Given the description of an element on the screen output the (x, y) to click on. 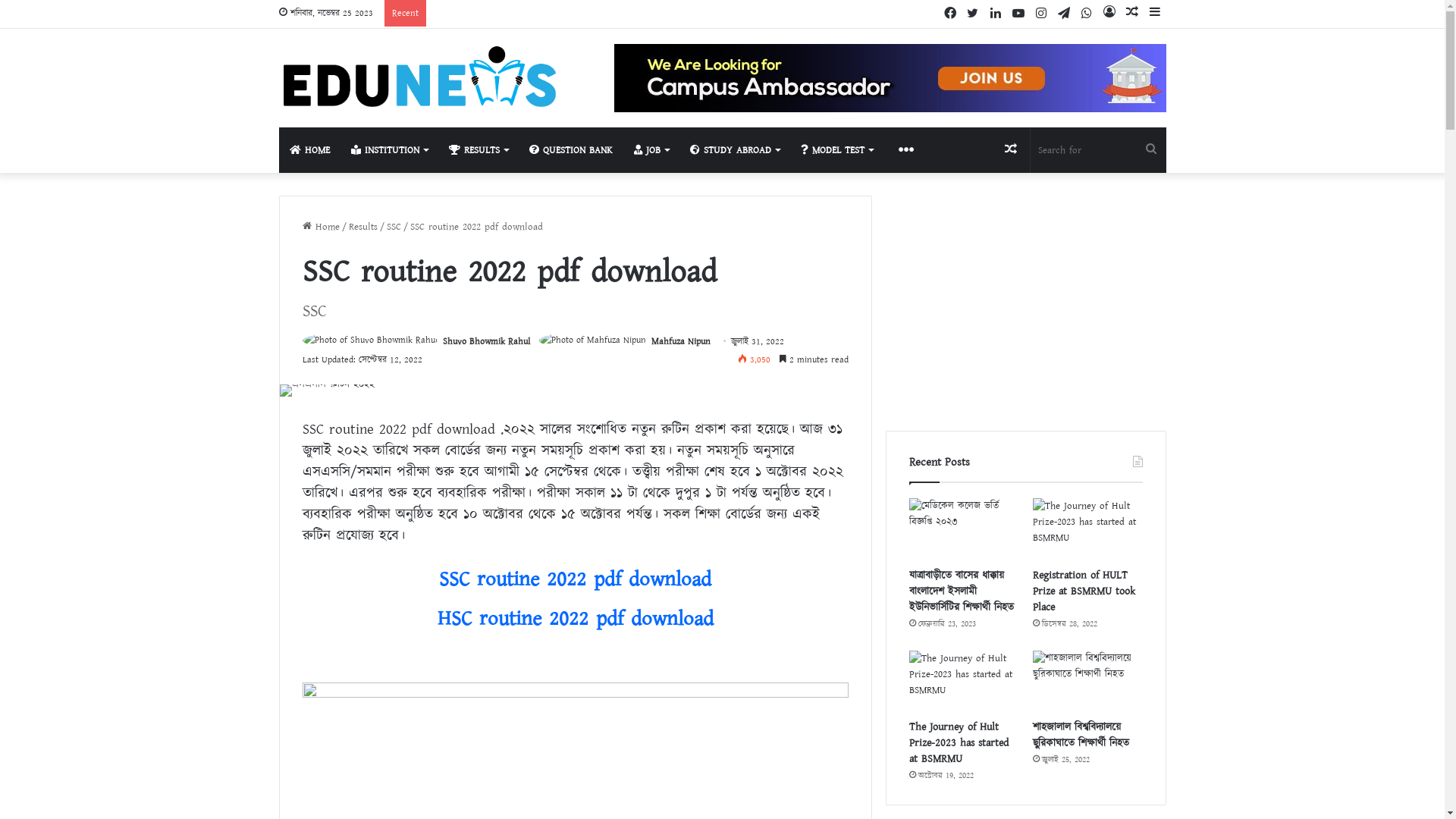
Results Element type: text (362, 226)
Registration of HULT Prize at BSMRMU took Place Element type: text (1083, 591)
Instagram Element type: text (1040, 14)
Sidebar Element type: text (1154, 13)
HSC routine 2022 pdf download Element type: text (574, 618)
The Journey of Hult Prize-2023 has started at BSMRMU Element type: text (958, 742)
WhatsApp Element type: text (1086, 14)
MODEL TEST Element type: text (836, 149)
LinkedIn Element type: text (995, 14)
Search for Element type: text (1150, 149)
Twitter Element type: text (972, 14)
HOME Element type: text (309, 149)
Log In Element type: text (1109, 13)
STUDY ABROAD Element type: text (734, 149)
RESULTS Element type: text (478, 149)
Random Article Element type: text (1131, 13)
SSC Element type: text (393, 226)
Shuvo Bhowmik Rahul Element type: text (486, 341)
JOB Element type: text (651, 149)
YouTube Element type: text (1018, 14)
Random Article Element type: text (1010, 149)
INSTITUTION Element type: text (388, 149)
QUESTION BANK Element type: text (570, 149)
Edu News Element type: hover (419, 76)
SSC routine 2022 pdf download Element type: text (575, 578)
Home Element type: text (319, 226)
Advertisement Element type: hover (1025, 301)
Search for Element type: hover (1097, 149)
Telegram Element type: text (1063, 14)
MORE ICONS Element type: text (905, 149)
Mahfuza Nipun Element type: text (679, 341)
Facebook Element type: text (949, 14)
